Given the description of an element on the screen output the (x, y) to click on. 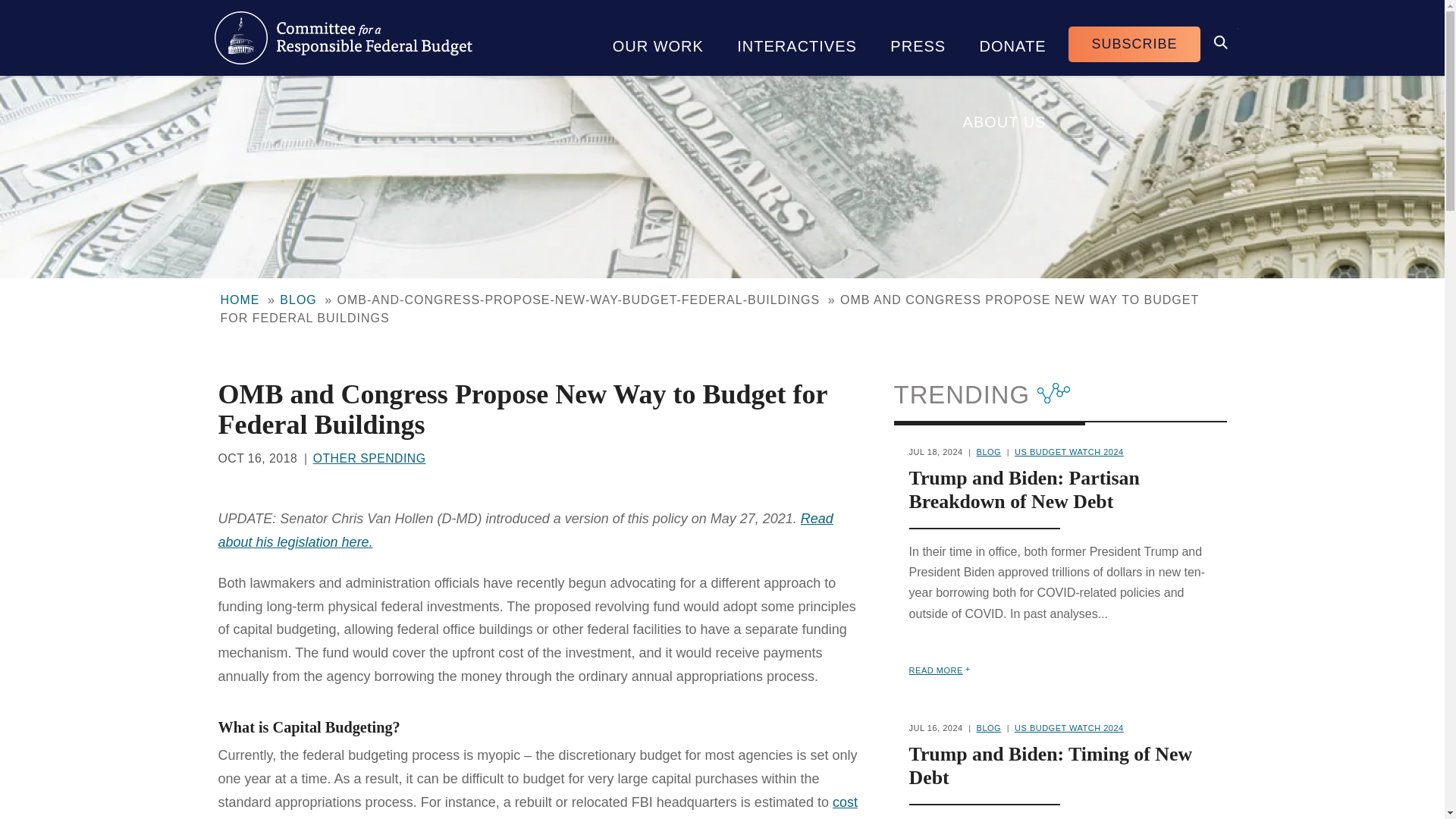
OUR WORK (657, 38)
PRESS (917, 38)
DONATE (1012, 38)
Committee for a Responsible Federal Budget (342, 37)
INTERACTIVES (797, 38)
ABOUT US (1004, 113)
